Given the description of an element on the screen output the (x, y) to click on. 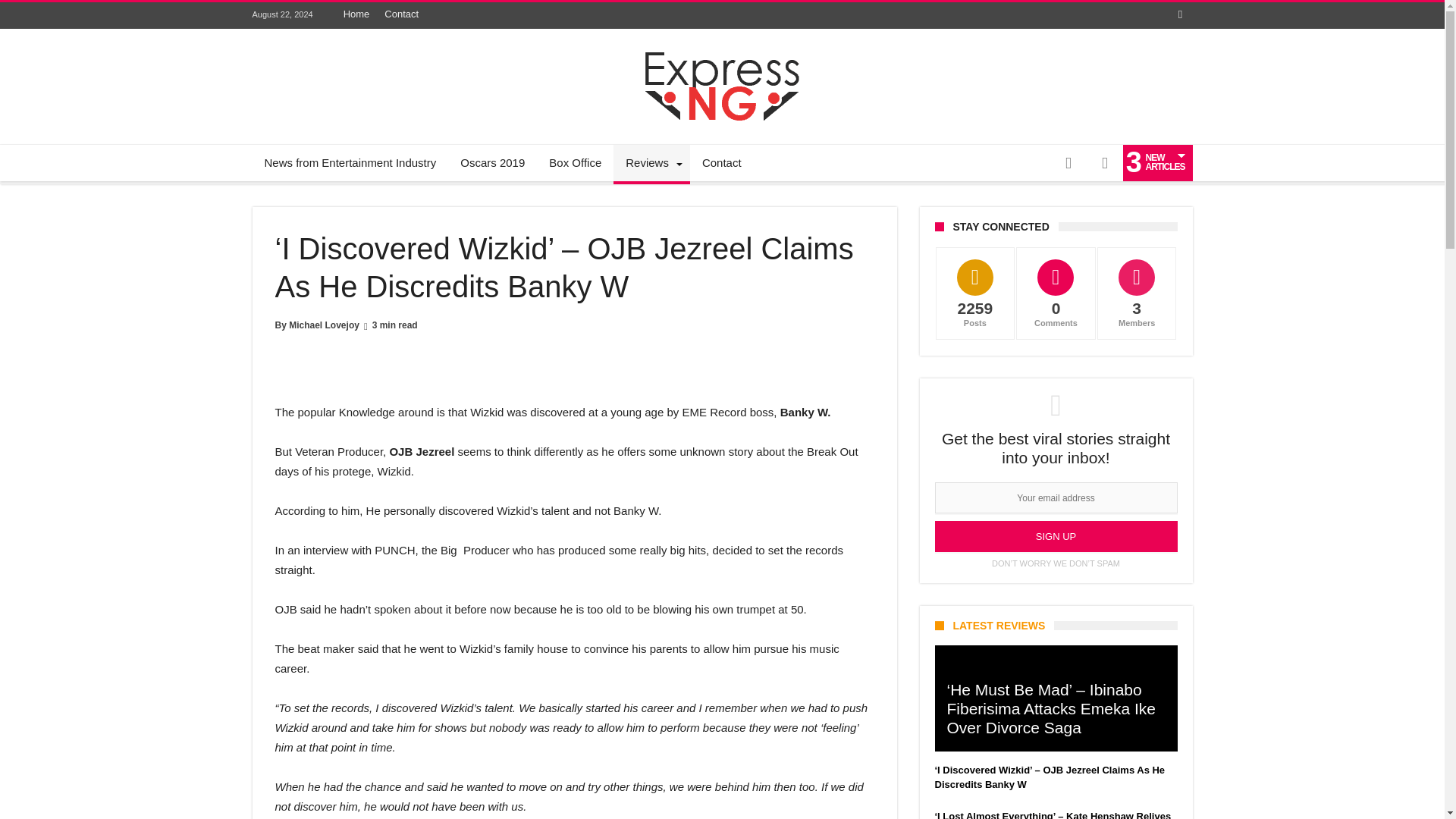
Contact (401, 14)
Contact (722, 162)
Box Office (574, 162)
Sign up (1055, 536)
Michael Lovejoy (323, 325)
News from Entertainment Industry (349, 162)
Reviews (651, 162)
Facebook (1179, 15)
Entertainment Express (722, 50)
Home (356, 14)
